Given the description of an element on the screen output the (x, y) to click on. 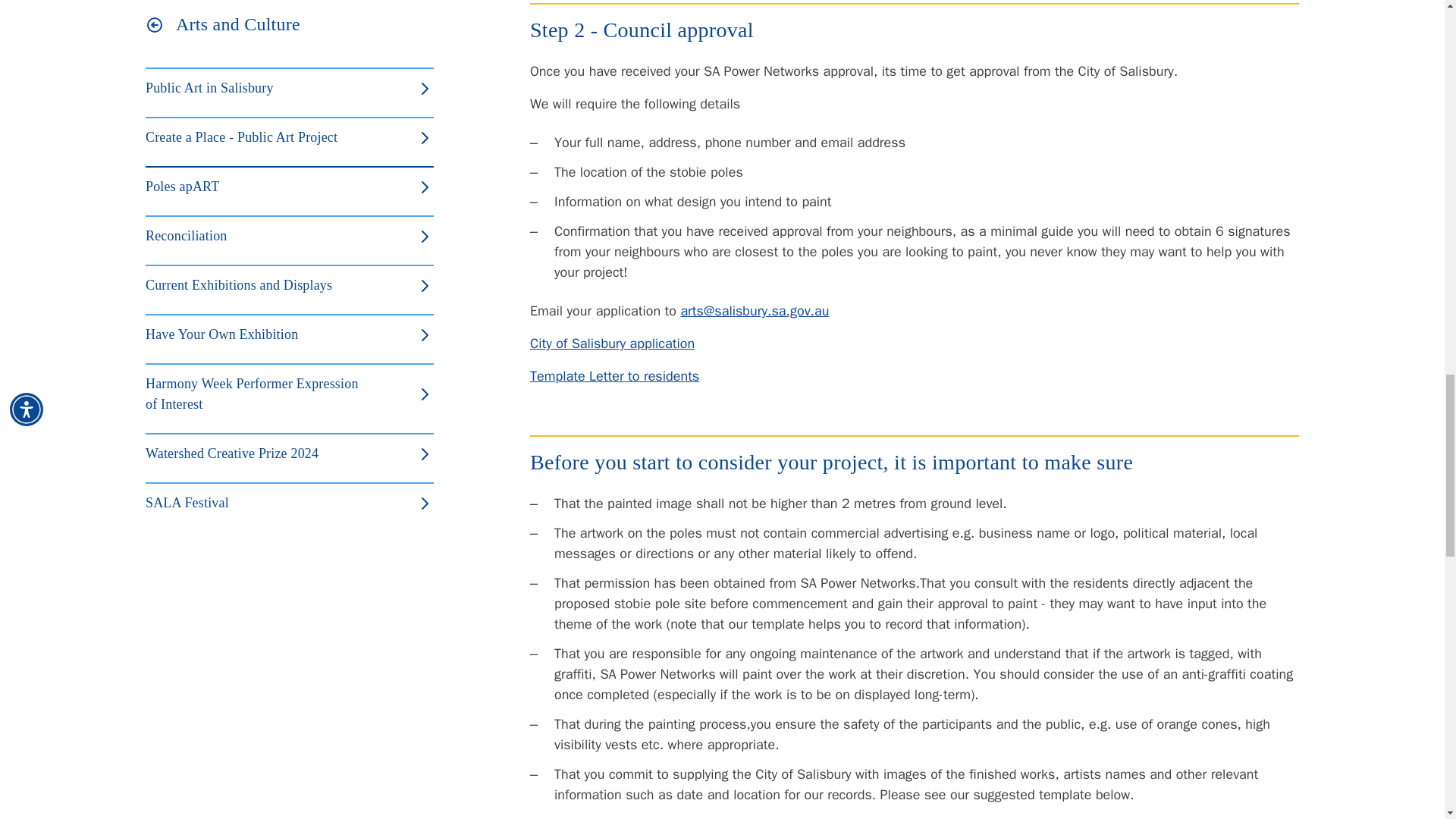
Cos Poles apart application (611, 343)
Cos poles apart resident letter (613, 375)
